Given the description of an element on the screen output the (x, y) to click on. 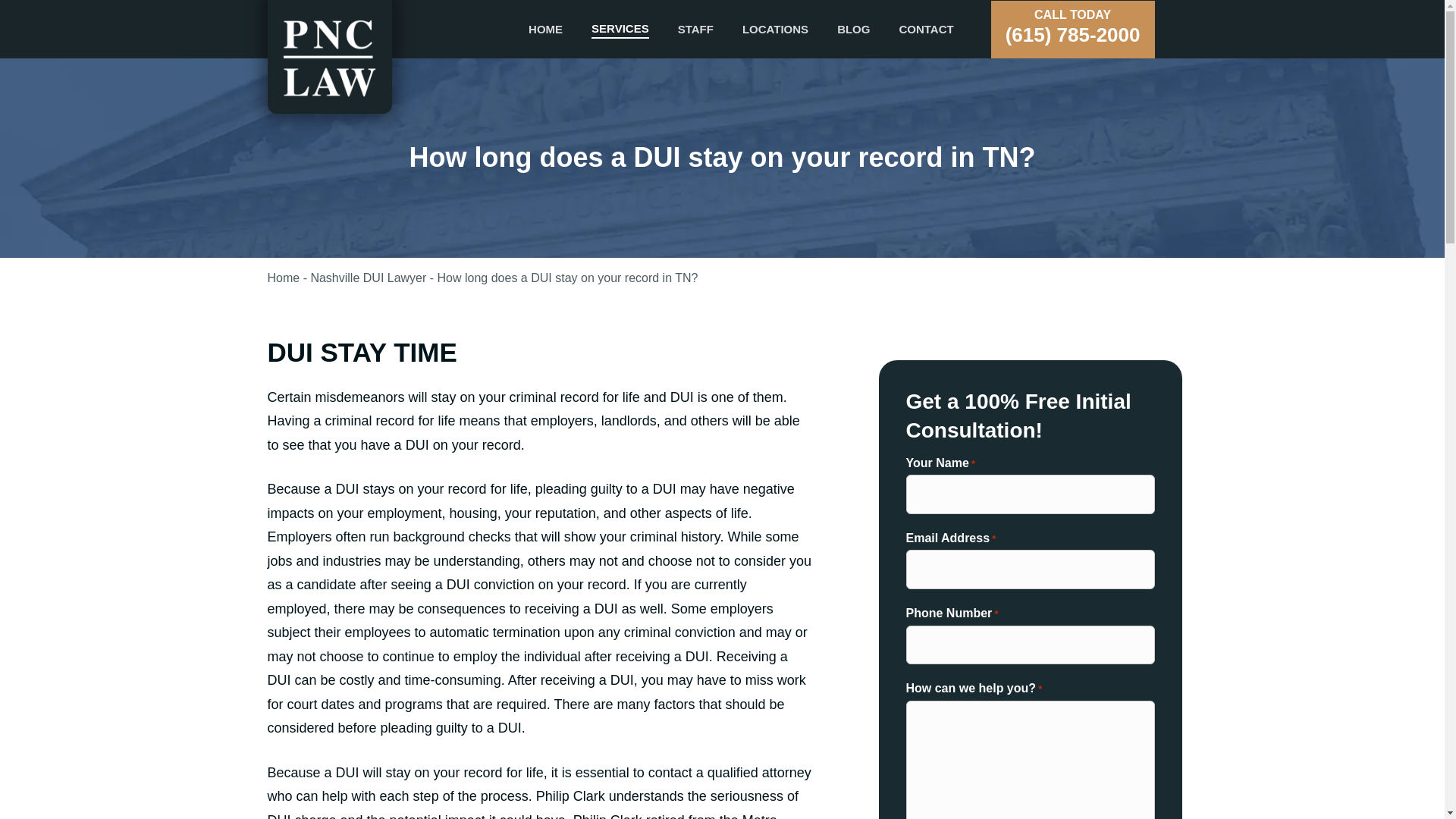
SERVICES (620, 28)
HOME (545, 29)
